Given the description of an element on the screen output the (x, y) to click on. 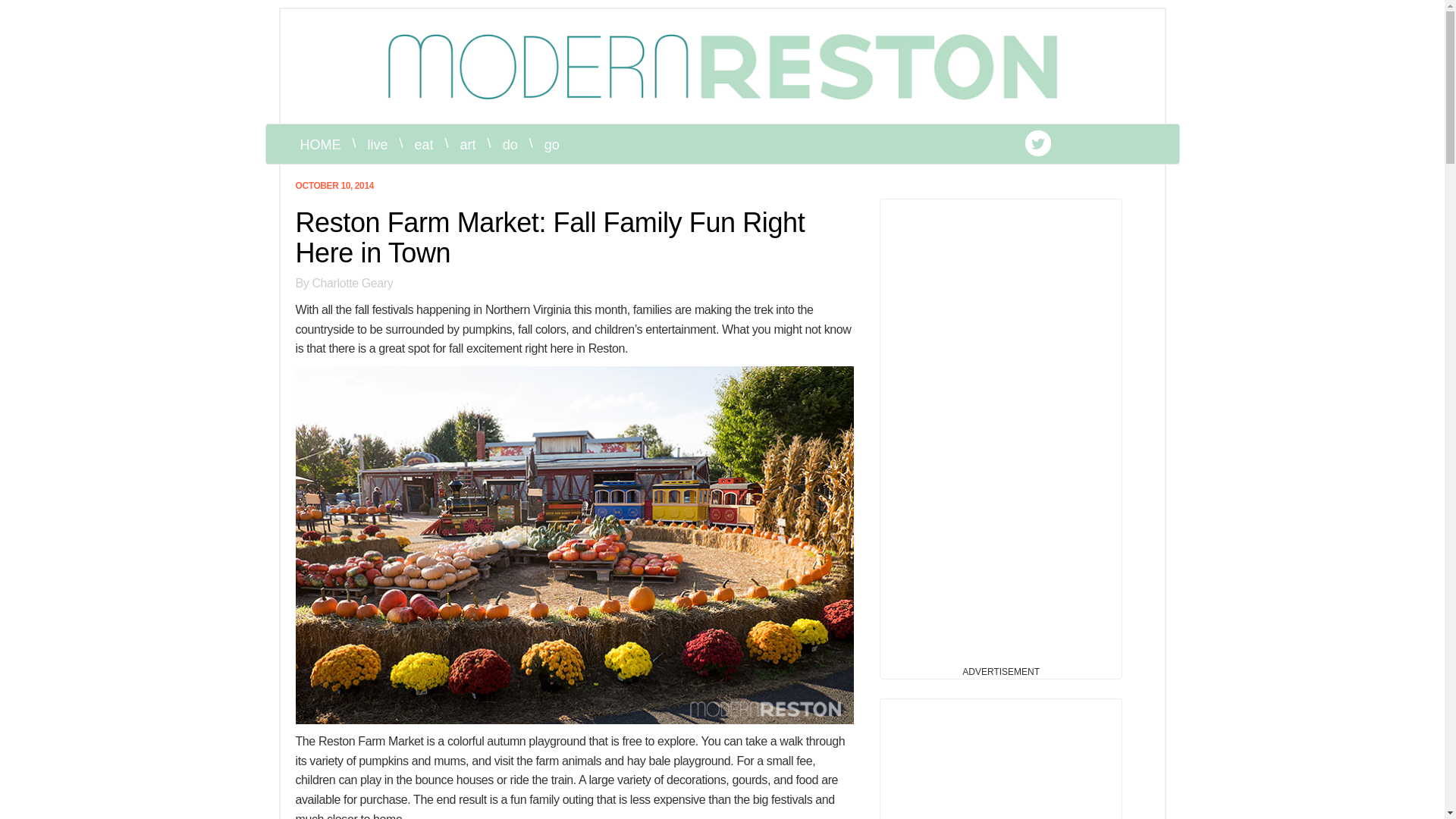
do (510, 144)
art (467, 144)
eat (424, 144)
live (377, 144)
HOME (320, 144)
